Given the description of an element on the screen output the (x, y) to click on. 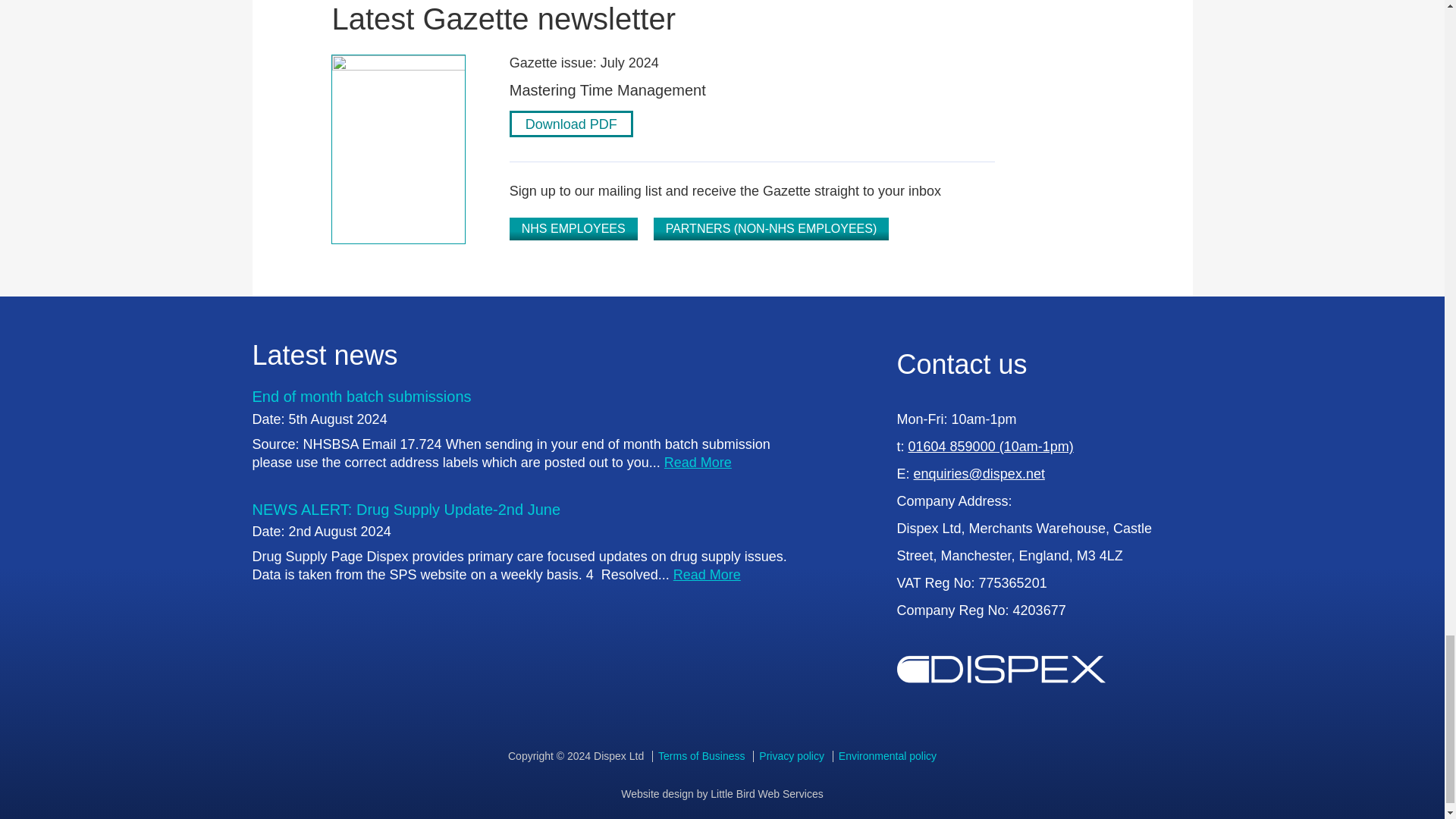
Email (979, 473)
Telephone (991, 446)
